Given the description of an element on the screen output the (x, y) to click on. 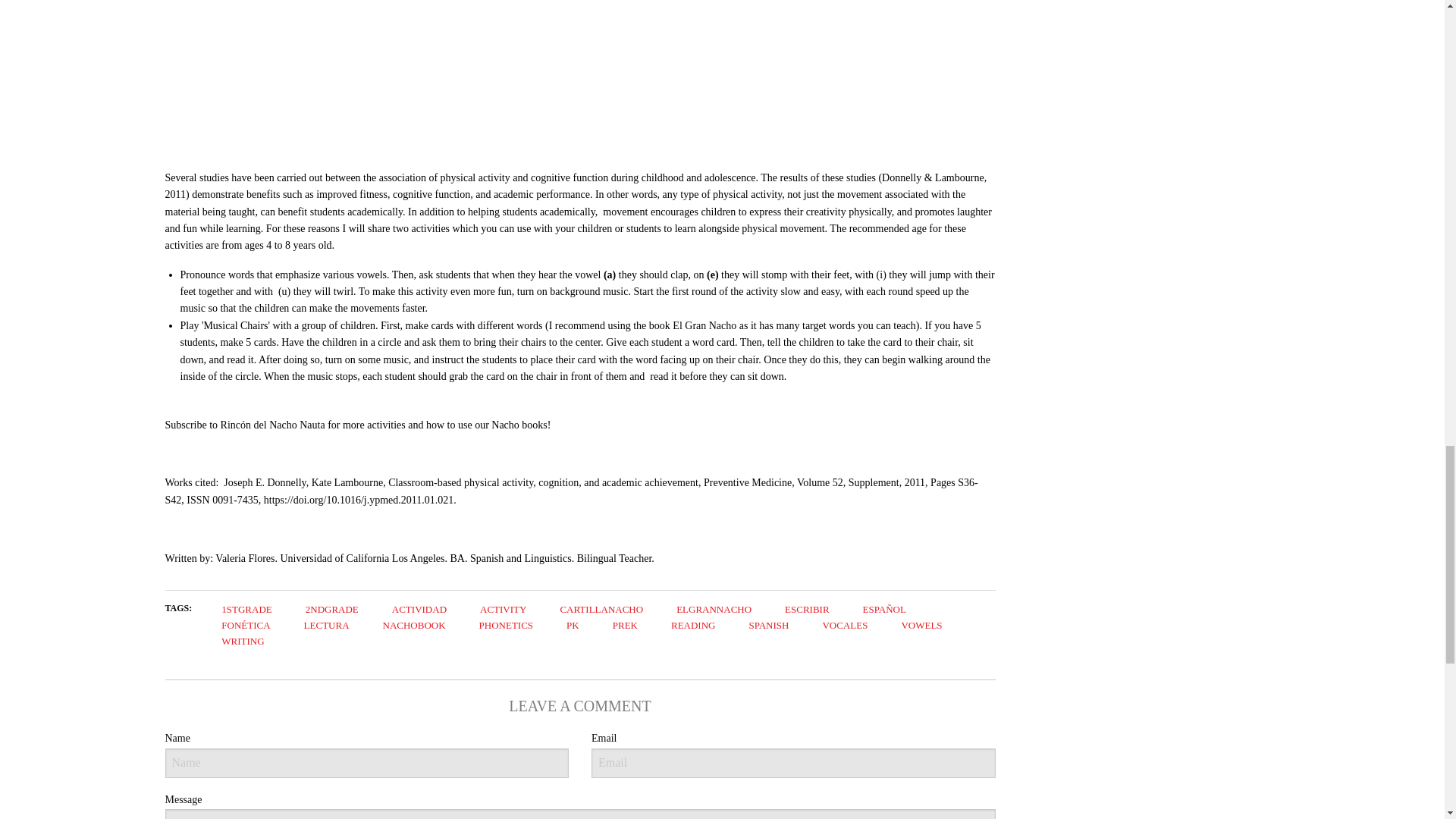
El Gran Nacho (704, 325)
El Gran Nacho (704, 325)
